Given the description of an element on the screen output the (x, y) to click on. 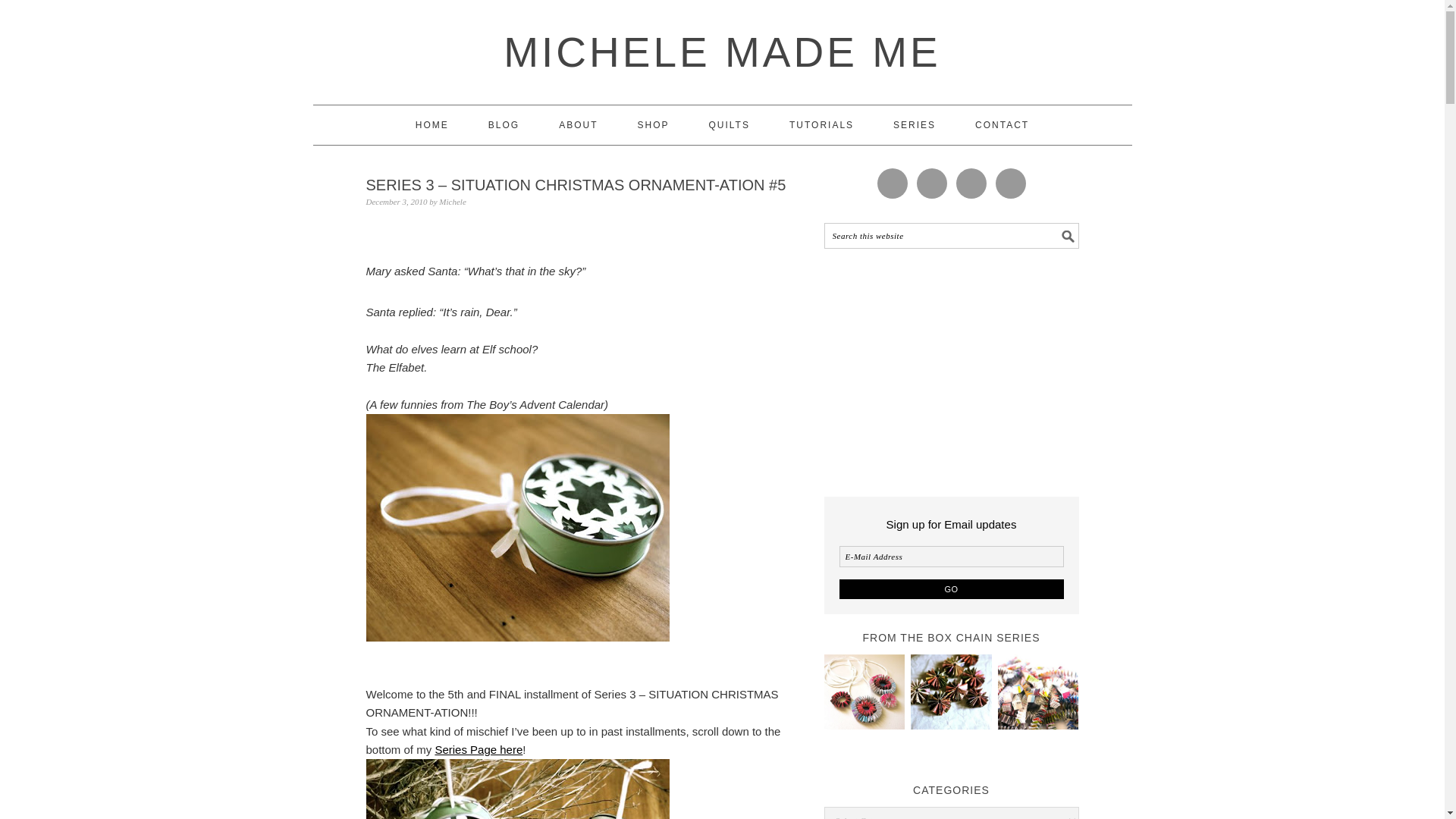
Kid Craft: Box Chain Pendant and Ring (864, 693)
TUTORIALS (821, 124)
Michele (452, 201)
MICHELE MADE ME (721, 52)
SERIES (915, 124)
SHOP (652, 124)
HOME (431, 124)
QUILTS (729, 124)
Advertisement (951, 369)
Go (950, 588)
BLOG (503, 124)
ABOUT (577, 124)
CONTACT (1002, 124)
